Given the description of an element on the screen output the (x, y) to click on. 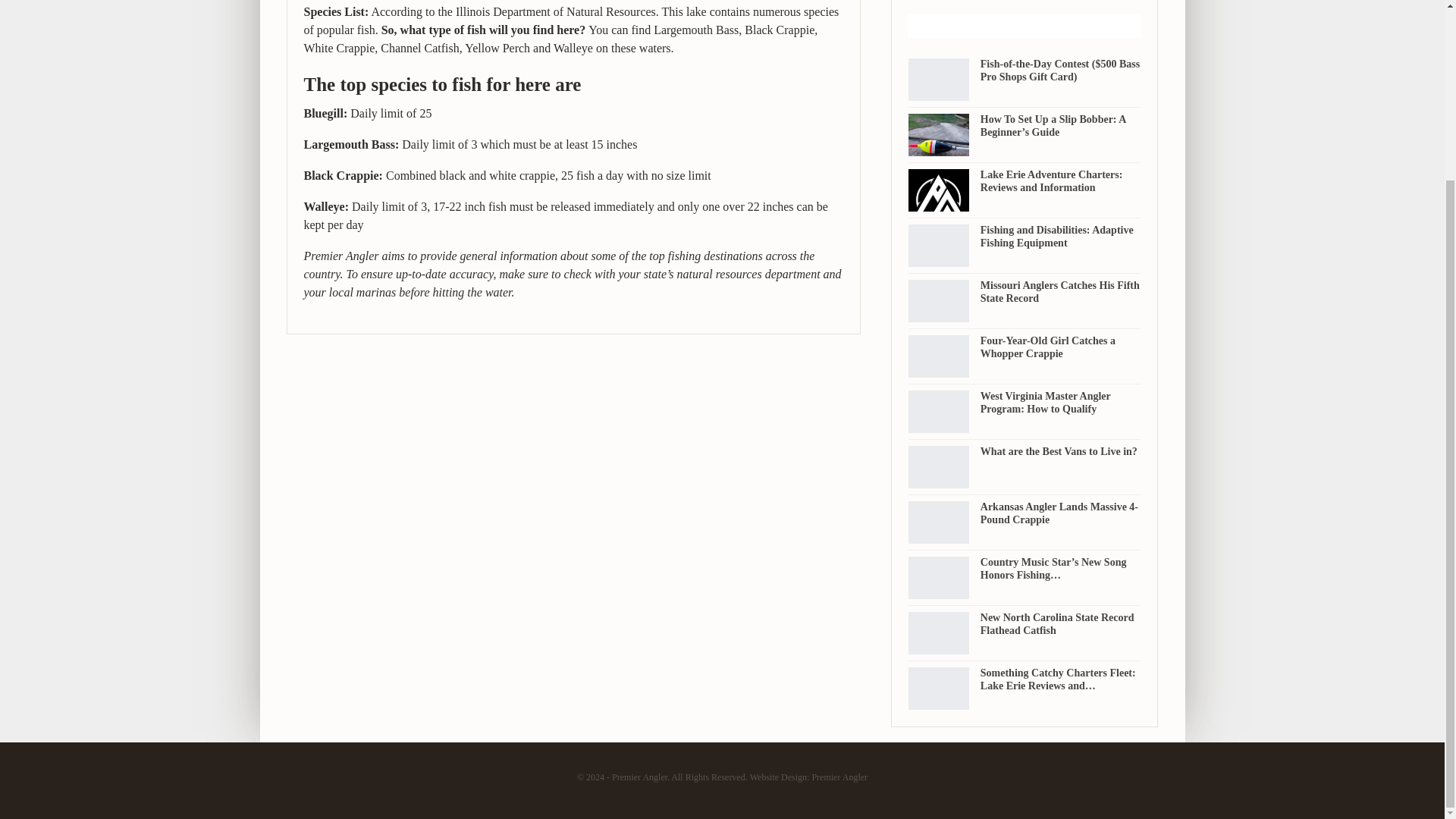
Fishing and Disabilities: Adaptive Fishing Equipment (1056, 236)
Four-Year-Old Girl Catches a Whopper Crappie (938, 355)
Four-Year-Old Girl Catches a Whopper Crappie (1047, 346)
West Virginia Master Angler Program: How to Qualify (1044, 402)
Missouri Anglers Catches His Fifth State Record (1059, 291)
West Virginia Master Angler Program: How to Qualify (938, 411)
Fishing and Disabilities: Adaptive Fishing Equipment (938, 245)
Lake Erie Adventure Charters: Reviews and Information (938, 189)
Arkansas Angler Lands Massive 4-Pound Crappie (1058, 513)
